Given the description of an element on the screen output the (x, y) to click on. 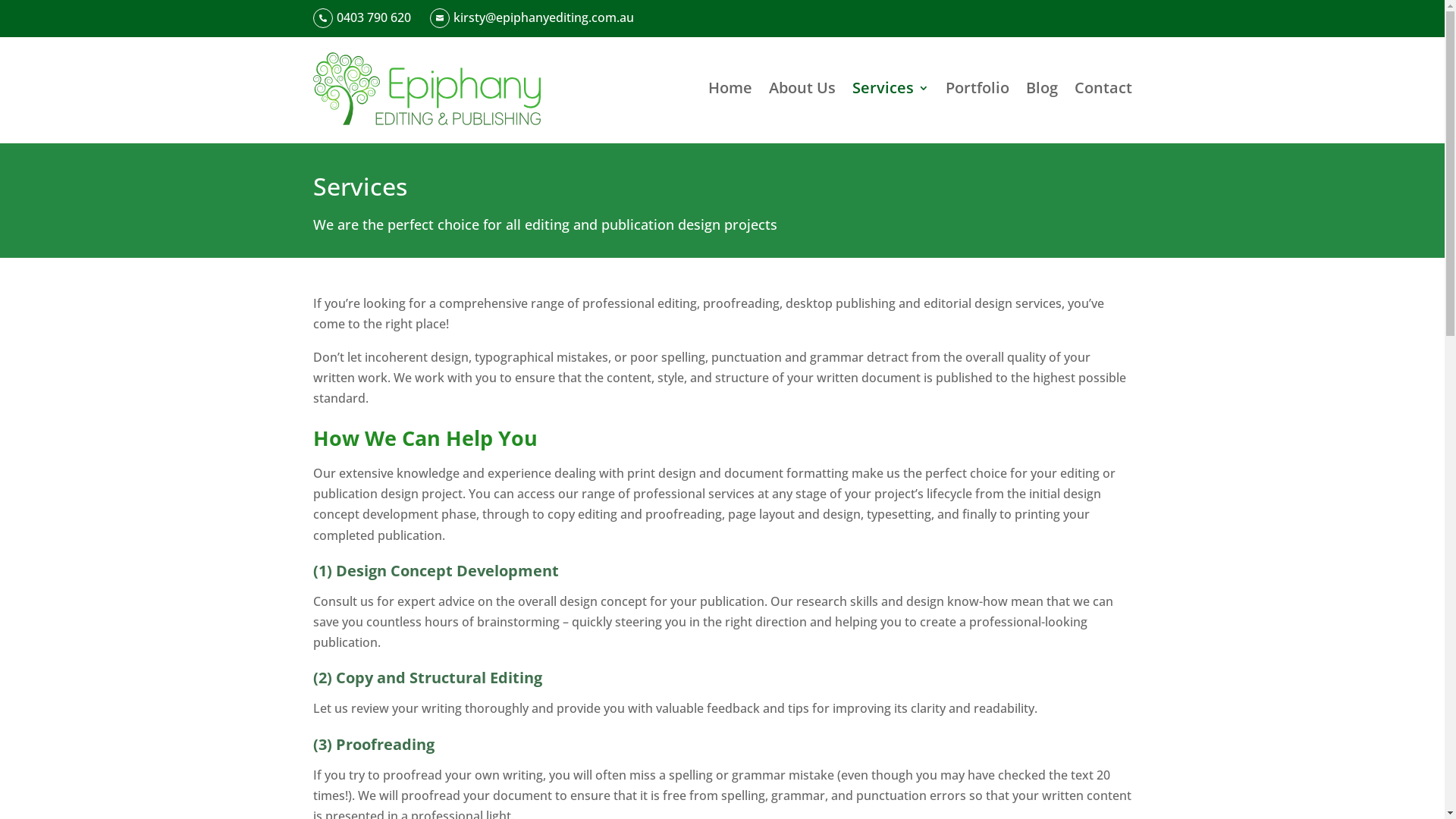
Home Element type: text (730, 88)
Contact Element type: text (1102, 88)
Portfolio Element type: text (976, 88)
Services Element type: text (890, 88)
About Us Element type: text (801, 88)
Blog Element type: text (1041, 88)
